Given the description of an element on the screen output the (x, y) to click on. 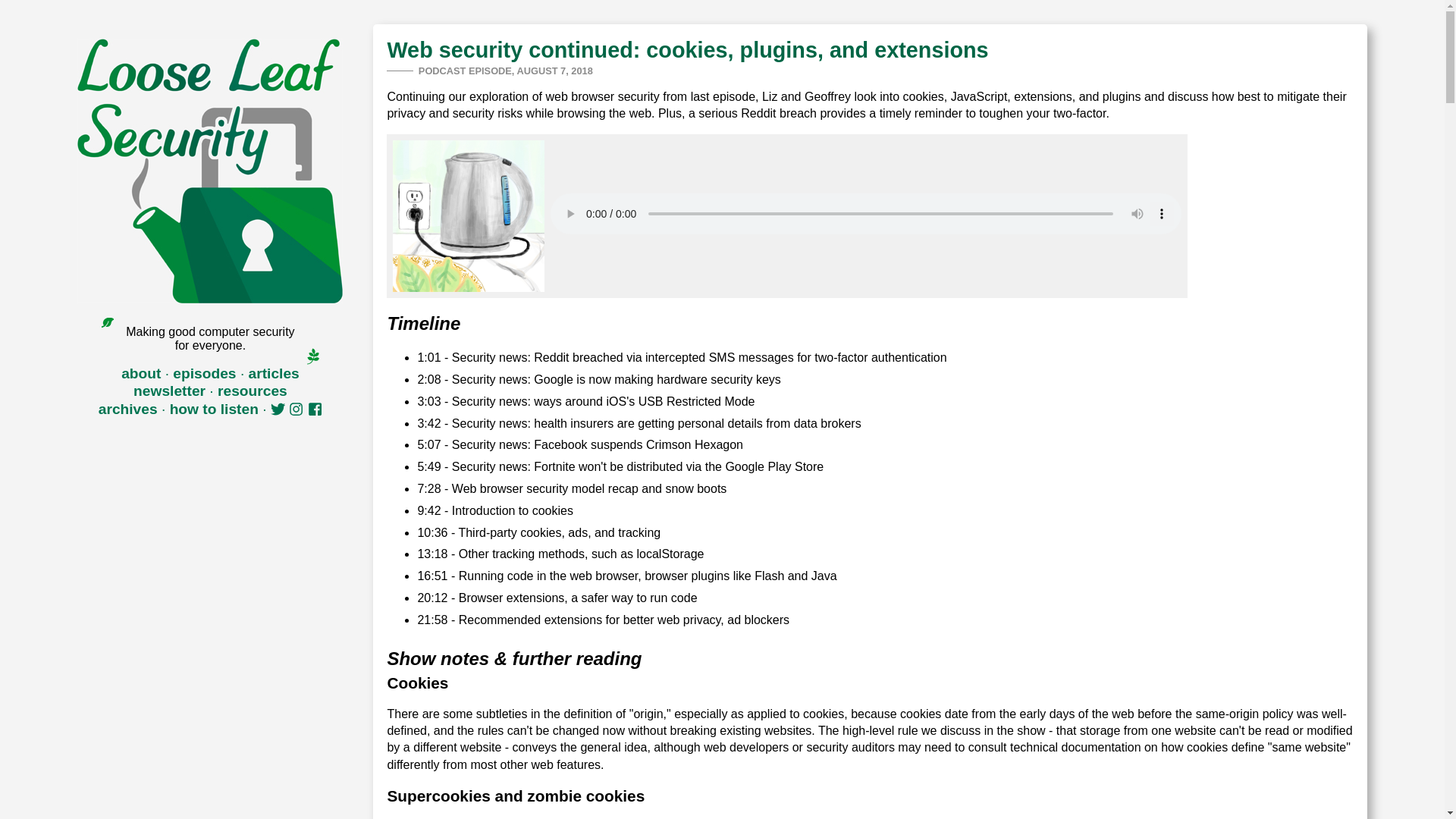
Loose Leaf Security on Facebook (314, 408)
PODCAST EPISODE, AUGUST 7, 2018 (505, 70)
episodes (204, 373)
Loose Leaf Security (209, 170)
About (140, 373)
Episodes (204, 373)
how to listen (214, 408)
Archives (128, 408)
How to listen (214, 408)
Articles (273, 373)
resources (251, 390)
Web security continued: cookies, plugins, and extensions (687, 49)
newsletter (169, 390)
